Given the description of an element on the screen output the (x, y) to click on. 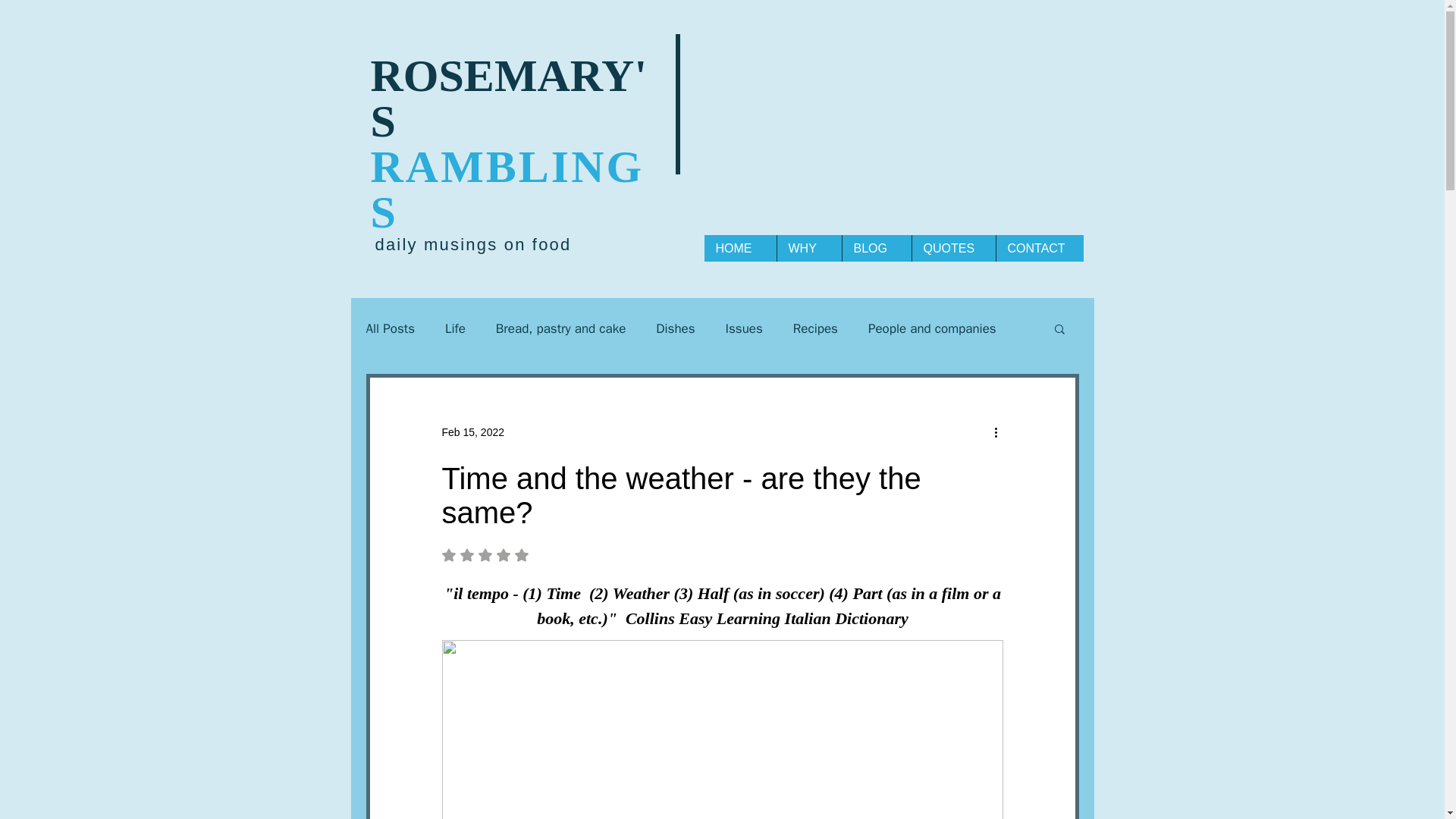
daily musings on food (472, 244)
People and companies (931, 328)
Life (455, 328)
Recipes (815, 328)
Bread, pastry and cake (561, 328)
BLOG (876, 248)
WHY (808, 248)
CONTACT (1038, 248)
Issues (521, 554)
